Given the description of an element on the screen output the (x, y) to click on. 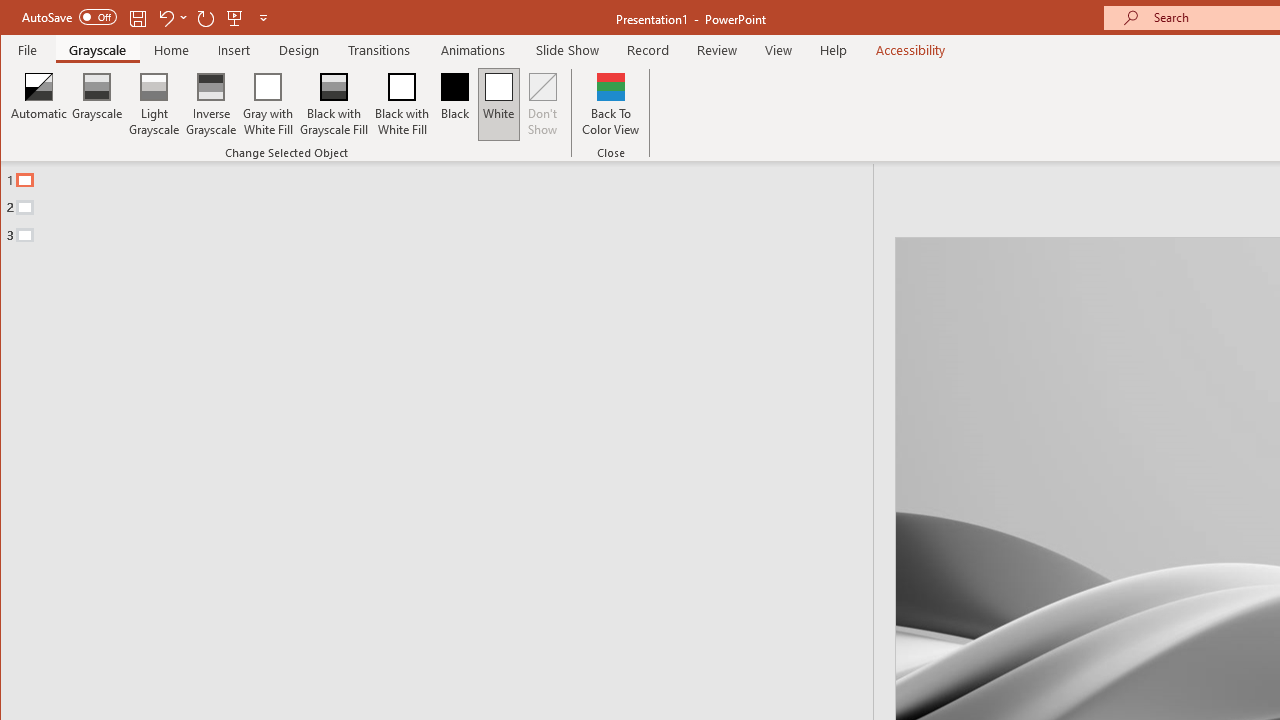
Grayscale (97, 50)
Black with White Fill (402, 104)
Outline (445, 203)
Back To Color View (610, 104)
Automatic (39, 104)
Grayscale (97, 104)
Gray with White Fill (267, 104)
